Given the description of an element on the screen output the (x, y) to click on. 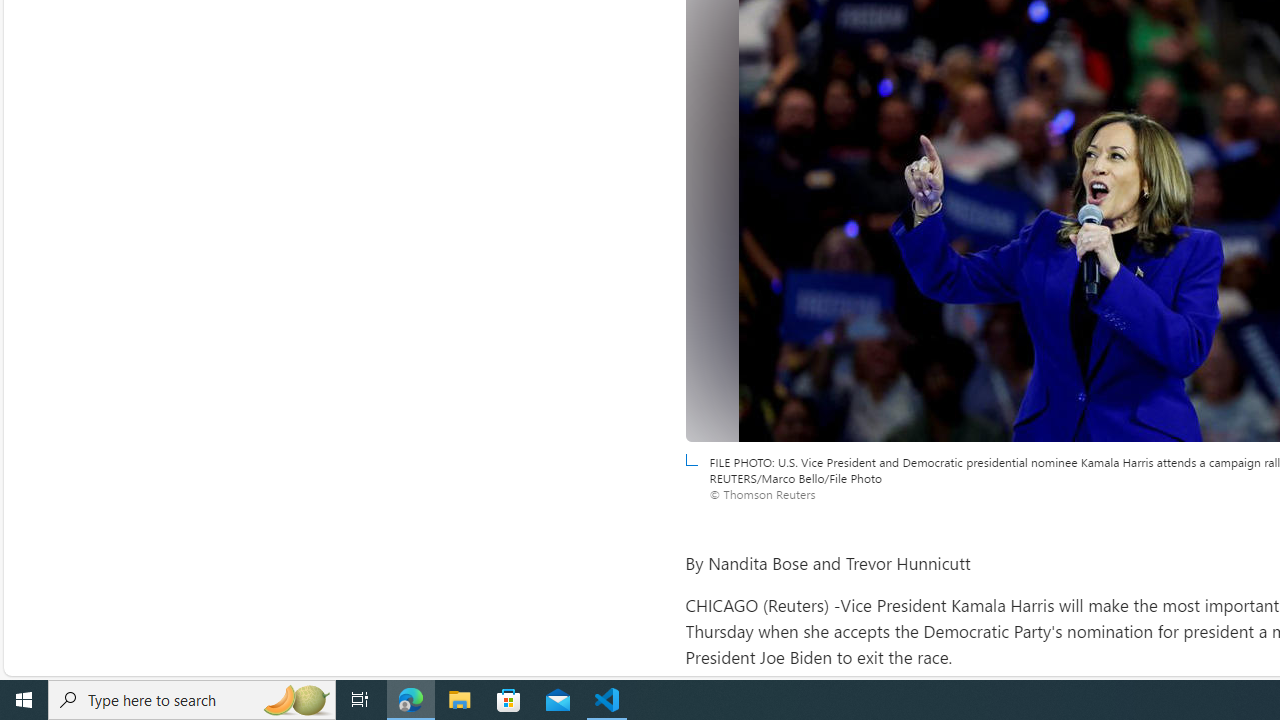
Visual Studio Code - 1 running window (607, 699)
Task View (359, 699)
File Explorer (460, 699)
Search highlights icon opens search home window (295, 699)
Microsoft Store (509, 699)
Microsoft Edge - 1 running window (411, 699)
Start (24, 699)
Type here to search (191, 699)
